Given the description of an element on the screen output the (x, y) to click on. 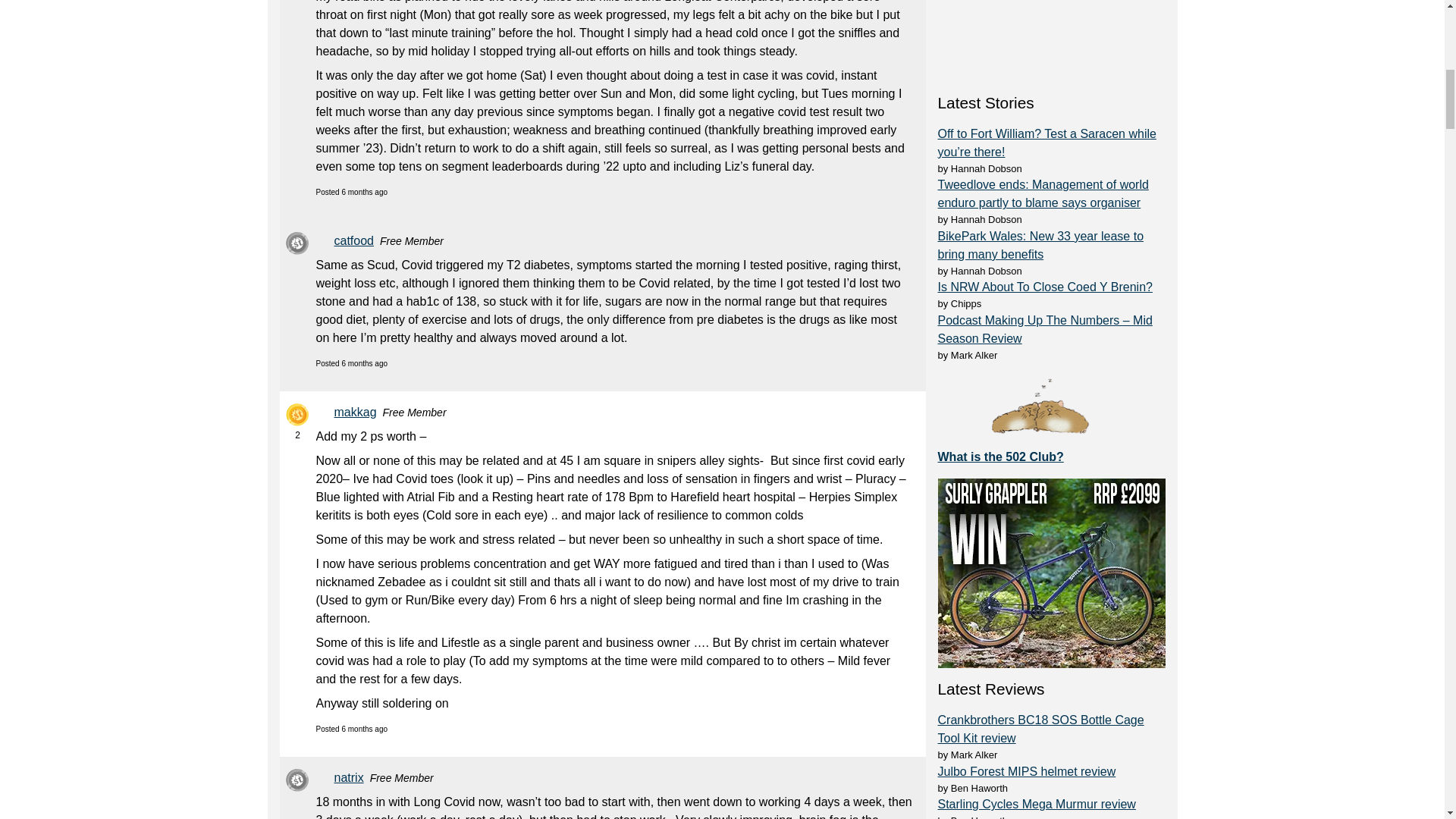
View catfood's profile (355, 240)
View makkag's profile (357, 412)
View natrix's profile (351, 778)
